Given the description of an element on the screen output the (x, y) to click on. 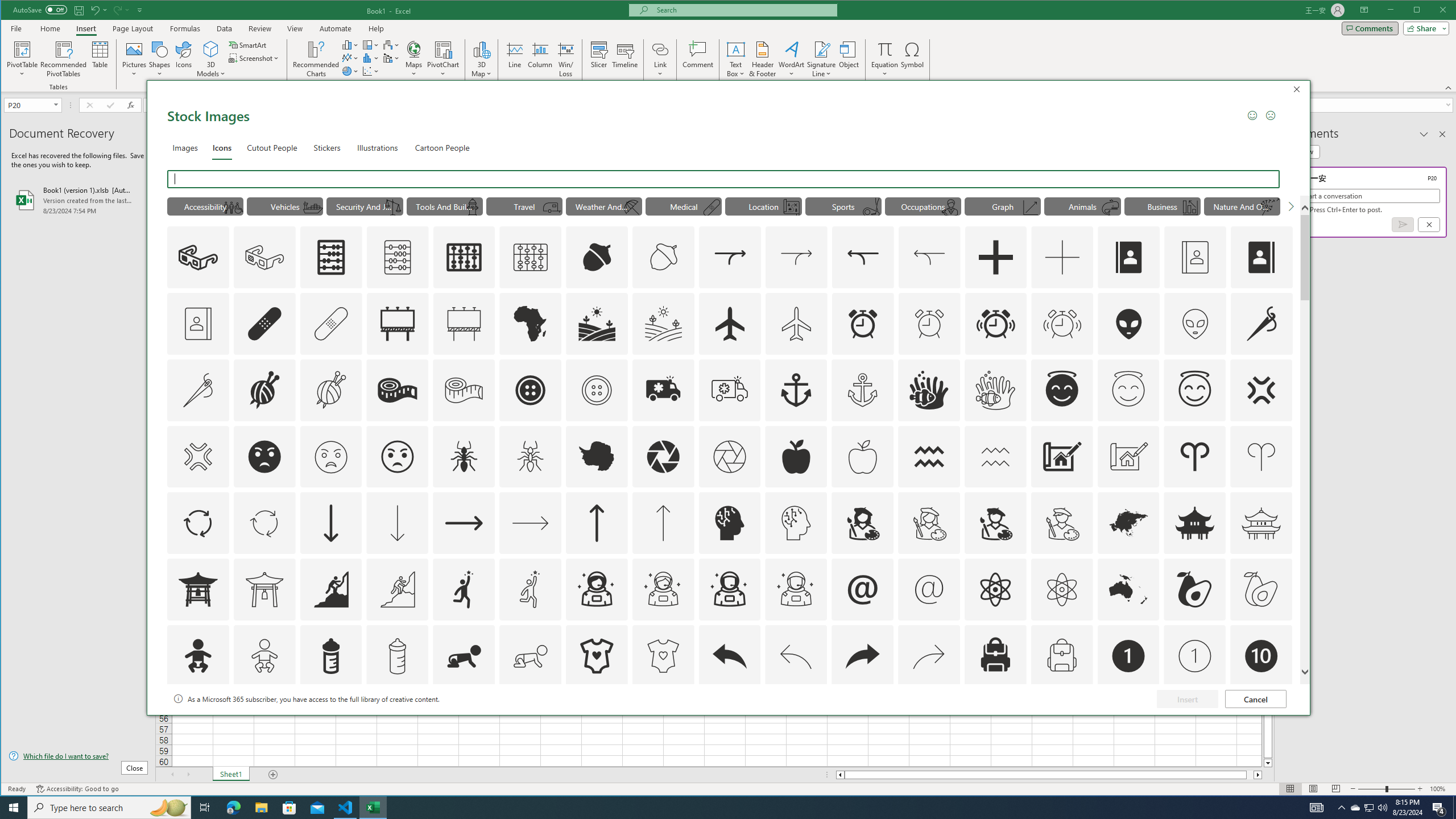
"Graph" Icons. (1002, 206)
AutomationID: Icons_AlterationsTailoring2_M (464, 389)
AutomationID: Icons_Abacus1_M (530, 256)
AutomationID: Icons_ArrowCircle_M (264, 522)
Visual Studio Code - 1 running window (345, 807)
Insert Statistic Chart (371, 57)
AutomationID: Icons_Advertising_M (464, 323)
AutomationID: Icons_AstronautMale (729, 589)
Search highlights icon opens search home window (167, 807)
"Travel" Icons. (524, 206)
